Given the description of an element on the screen output the (x, y) to click on. 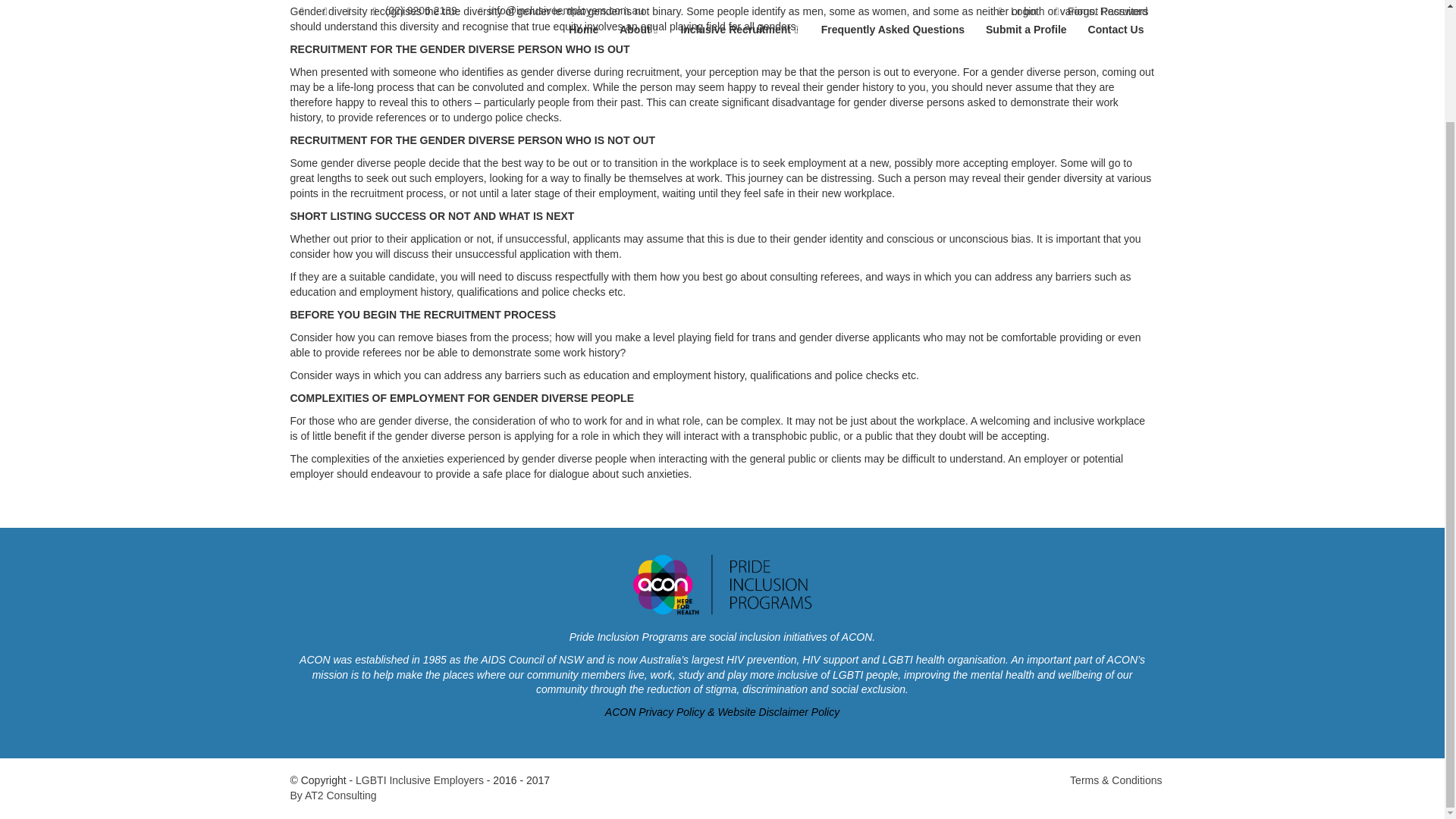
LGBTI Inclusive Employers (419, 779)
By AT2 Consulting (332, 795)
